Given the description of an element on the screen output the (x, y) to click on. 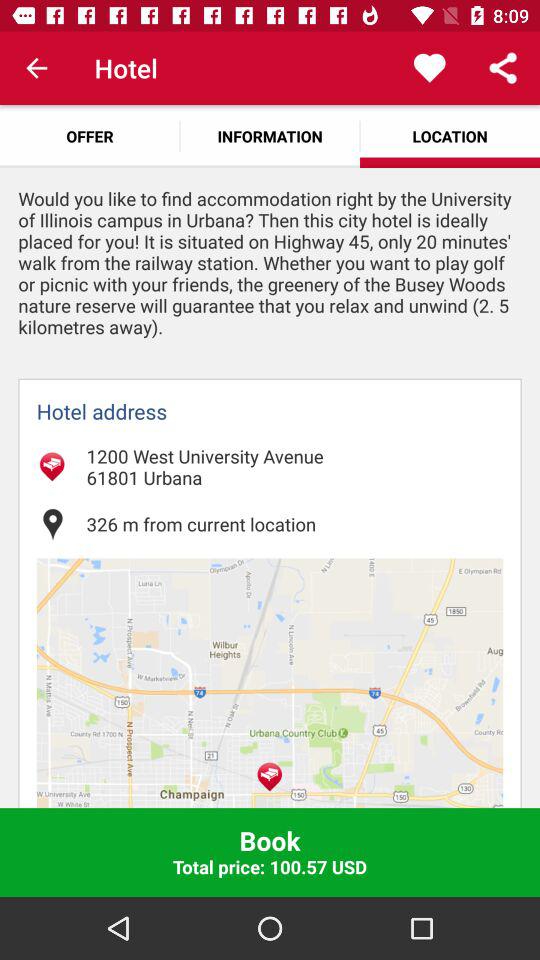
launch the item to the left of the hotel (36, 68)
